Given the description of an element on the screen output the (x, y) to click on. 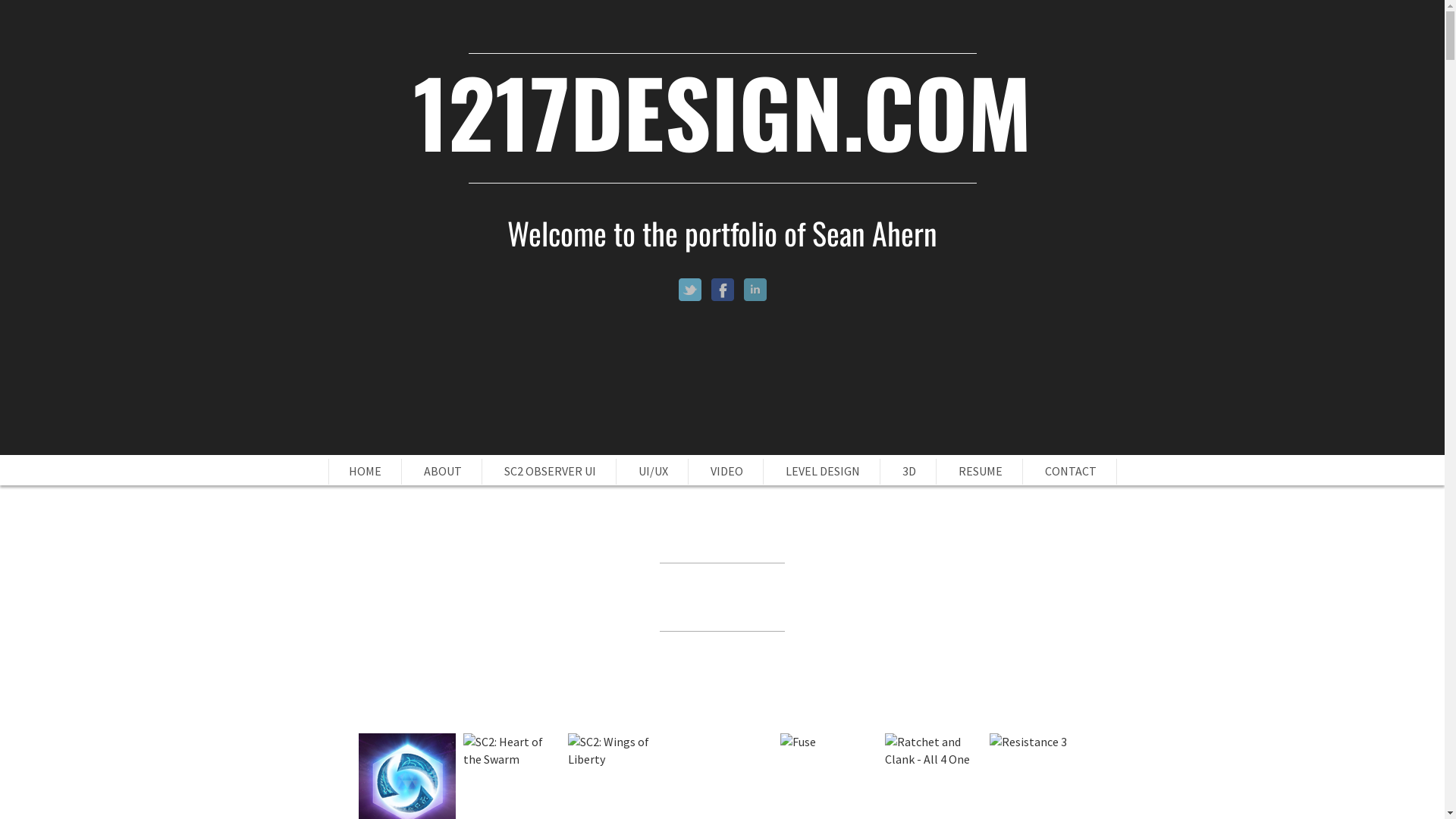
HOME Element type: text (364, 470)
SC2 OBSERVER UI Element type: text (549, 470)
CONTACT Element type: text (1070, 470)
ABOUT Element type: text (442, 470)
RESUME Element type: text (980, 470)
VIDEO Element type: text (725, 470)
3D Element type: text (909, 470)
LEVEL DESIGN Element type: text (822, 470)
UI/UX Element type: text (653, 470)
